Given the description of an element on the screen output the (x, y) to click on. 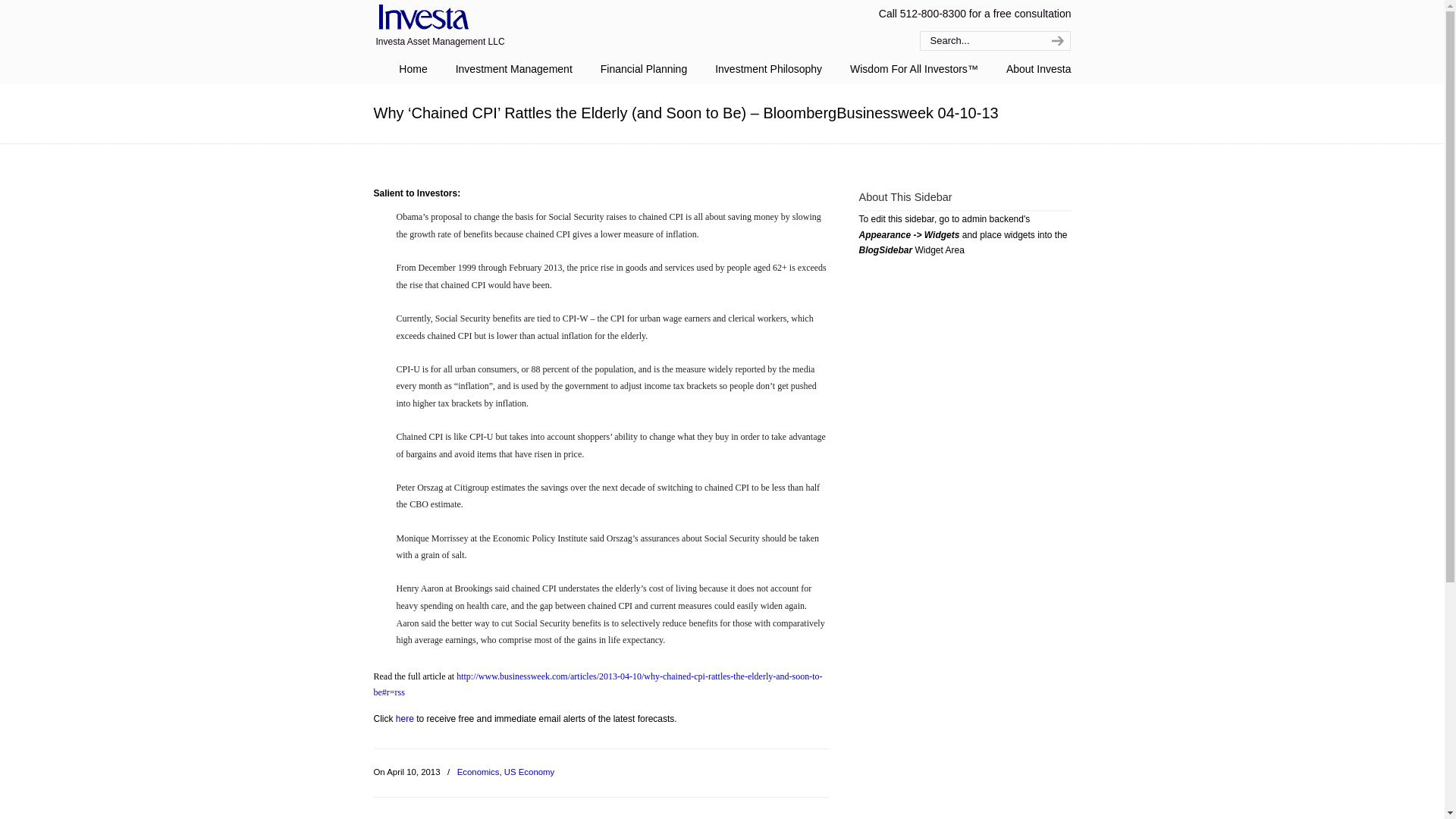
search (1055, 40)
Investa Asset Management LLC (419, 17)
Investment Philosophy (768, 69)
Financial Planning (643, 69)
here (404, 718)
Economics (478, 771)
search (1055, 40)
US Economy (528, 771)
search (1055, 40)
Home (413, 69)
